Given the description of an element on the screen output the (x, y) to click on. 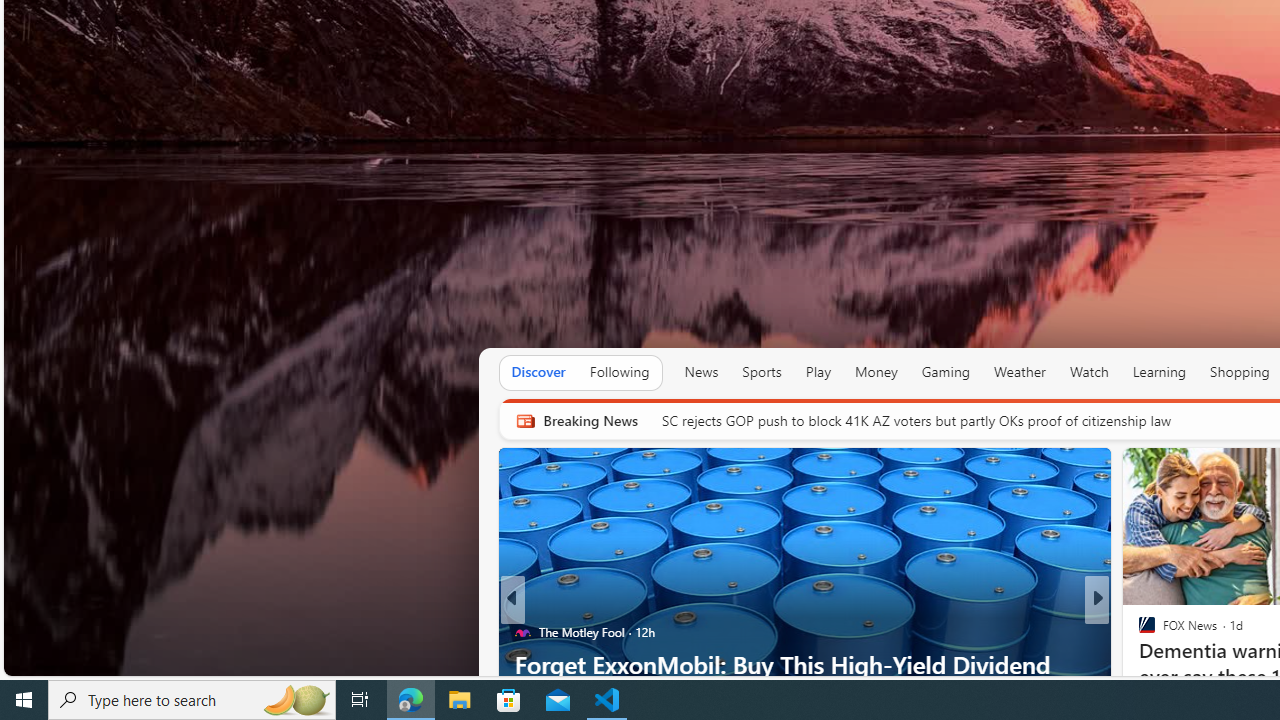
oceanbluemarine (1176, 663)
Morning Carpool (1138, 632)
Food Plus Words (1138, 632)
The Motley Fool (1138, 632)
CNBC (1138, 632)
